Given the description of an element on the screen output the (x, y) to click on. 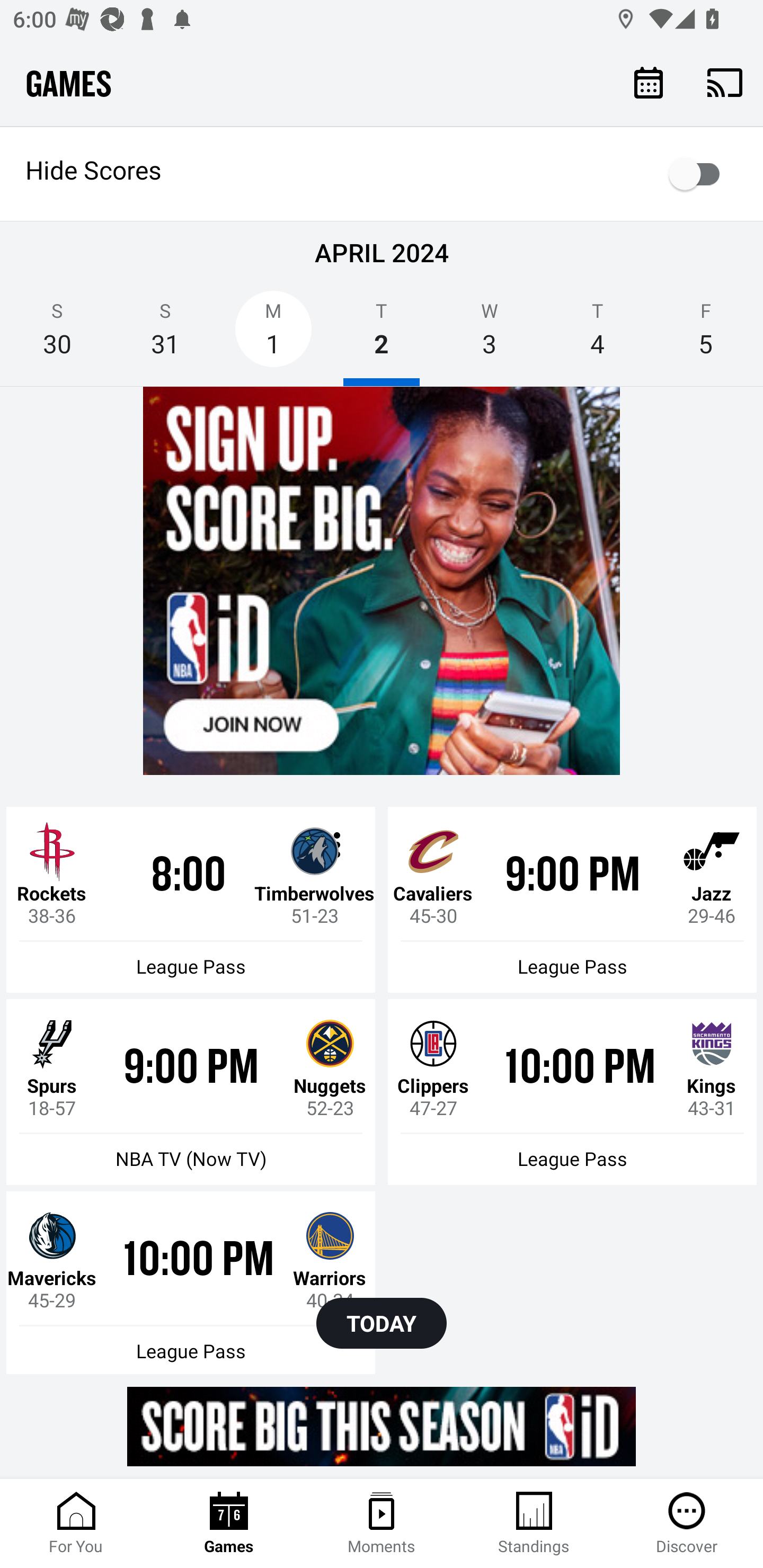
Cast. Disconnected (724, 82)
Calendar (648, 81)
Hide Scores (381, 174)
S 30 (57, 334)
S 31 (165, 334)
M 1 (273, 334)
T 2 (381, 334)
W 3 (489, 334)
T 4 (597, 334)
F 5 (705, 334)
g5nqqygr7owph (381, 580)
Cavaliers 45-30 9:00 PM Jazz 29-46 League Pass (571, 899)
Spurs 18-57 9:00 PM Nuggets 52-23 (190, 1065)
Clippers 47-27 10:00 PM Kings 43-31 League Pass (571, 1065)
Clippers 47-27 10:00 PM Kings 43-31 League Pass (571, 1091)
Mavericks 45-29 10:00 PM Warriors 40-34 (190, 1257)
TODAY (381, 1323)
g5nqqygr7owph (381, 1426)
For You (76, 1523)
Moments (381, 1523)
Standings (533, 1523)
Discover (686, 1523)
